Given the description of an element on the screen output the (x, y) to click on. 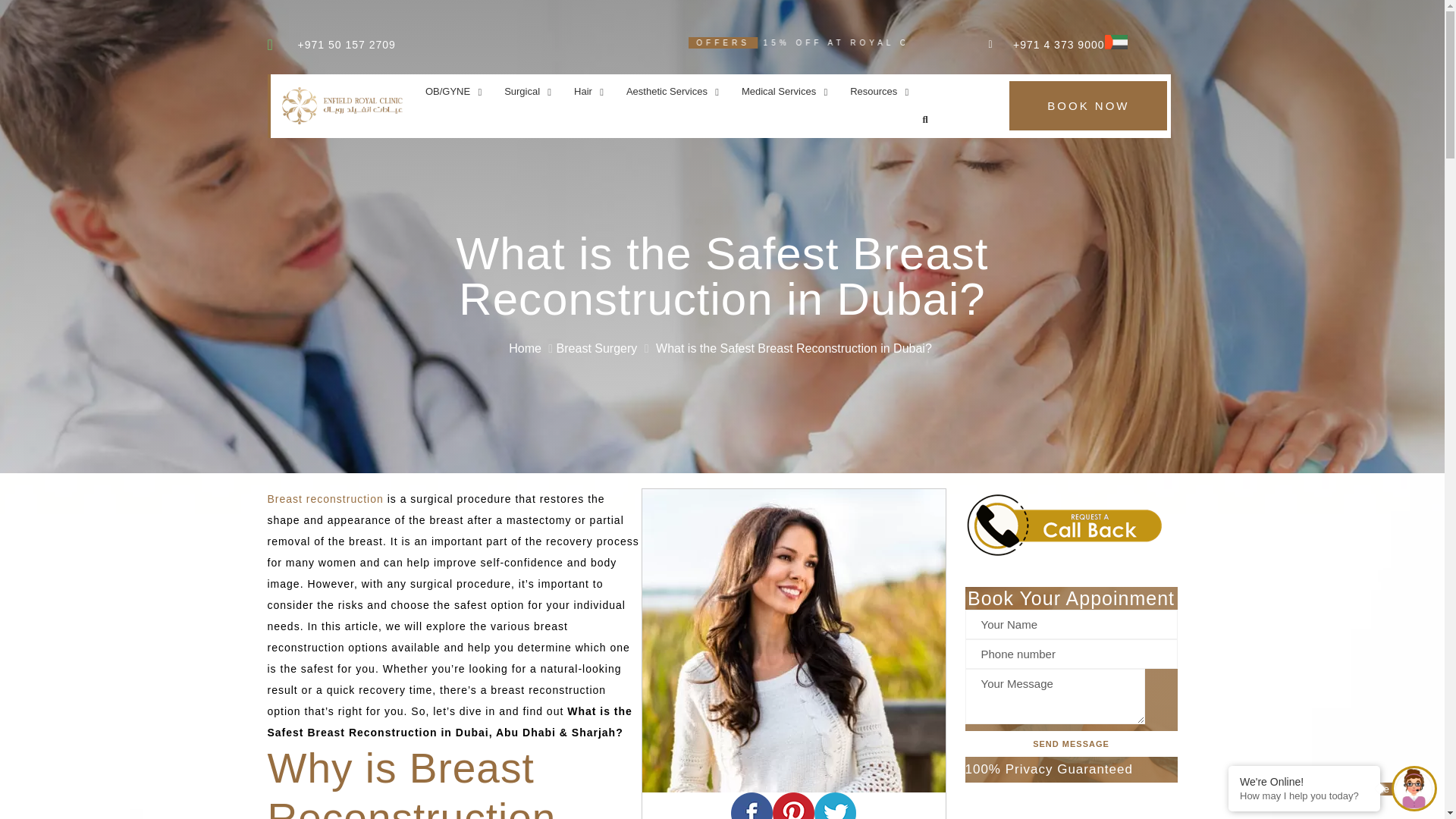
Send message (1069, 743)
How may I help you today? (1304, 795)
We're Online! (1304, 781)
